Given the description of an element on the screen output the (x, y) to click on. 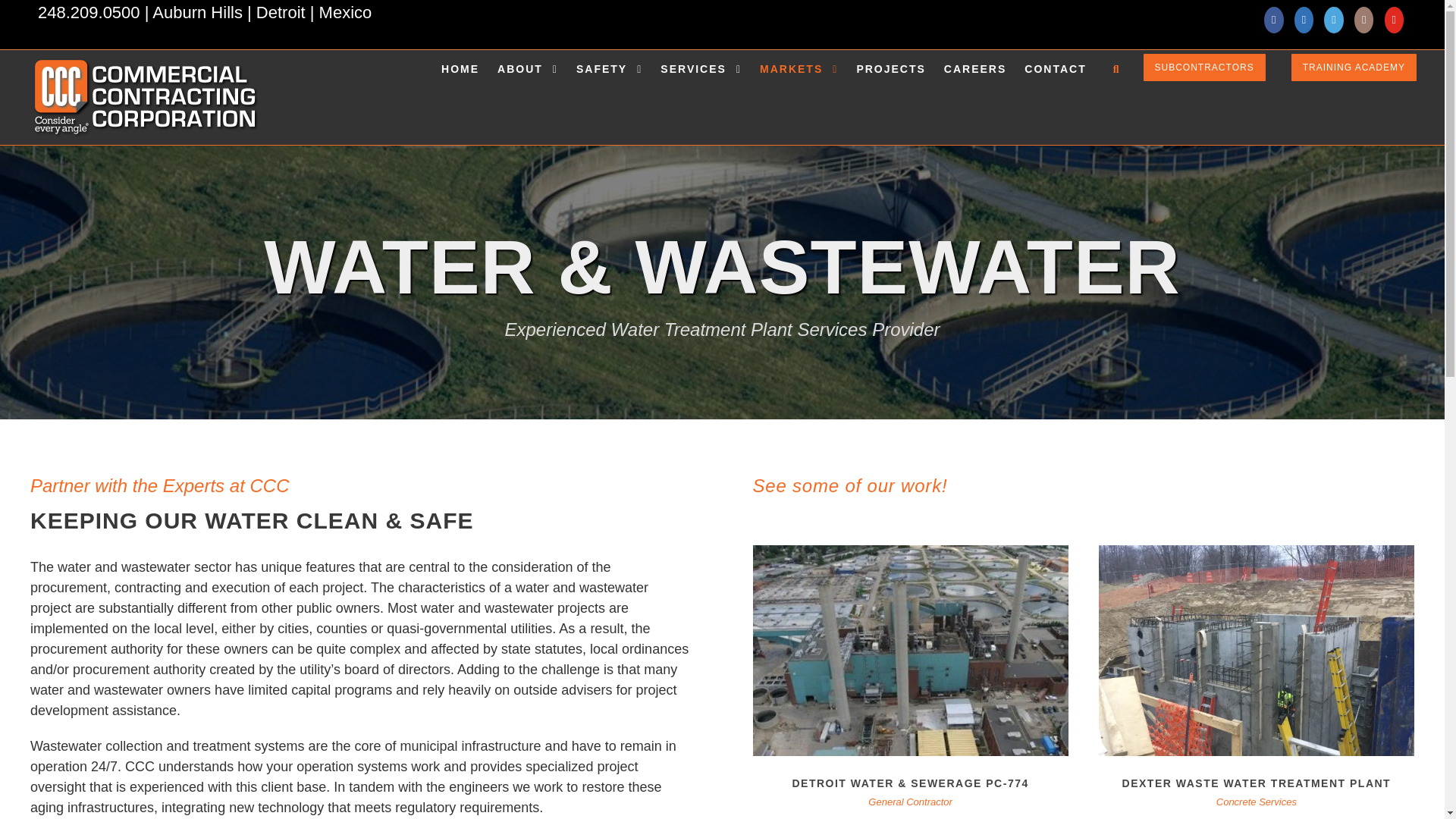
SAFETY (609, 82)
ABOUT (527, 82)
Detroit WWTP (909, 650)
SERVICES (701, 82)
MARKETS (799, 82)
HOME (460, 82)
Headworks pits (1256, 650)
